Given the description of an element on the screen output the (x, y) to click on. 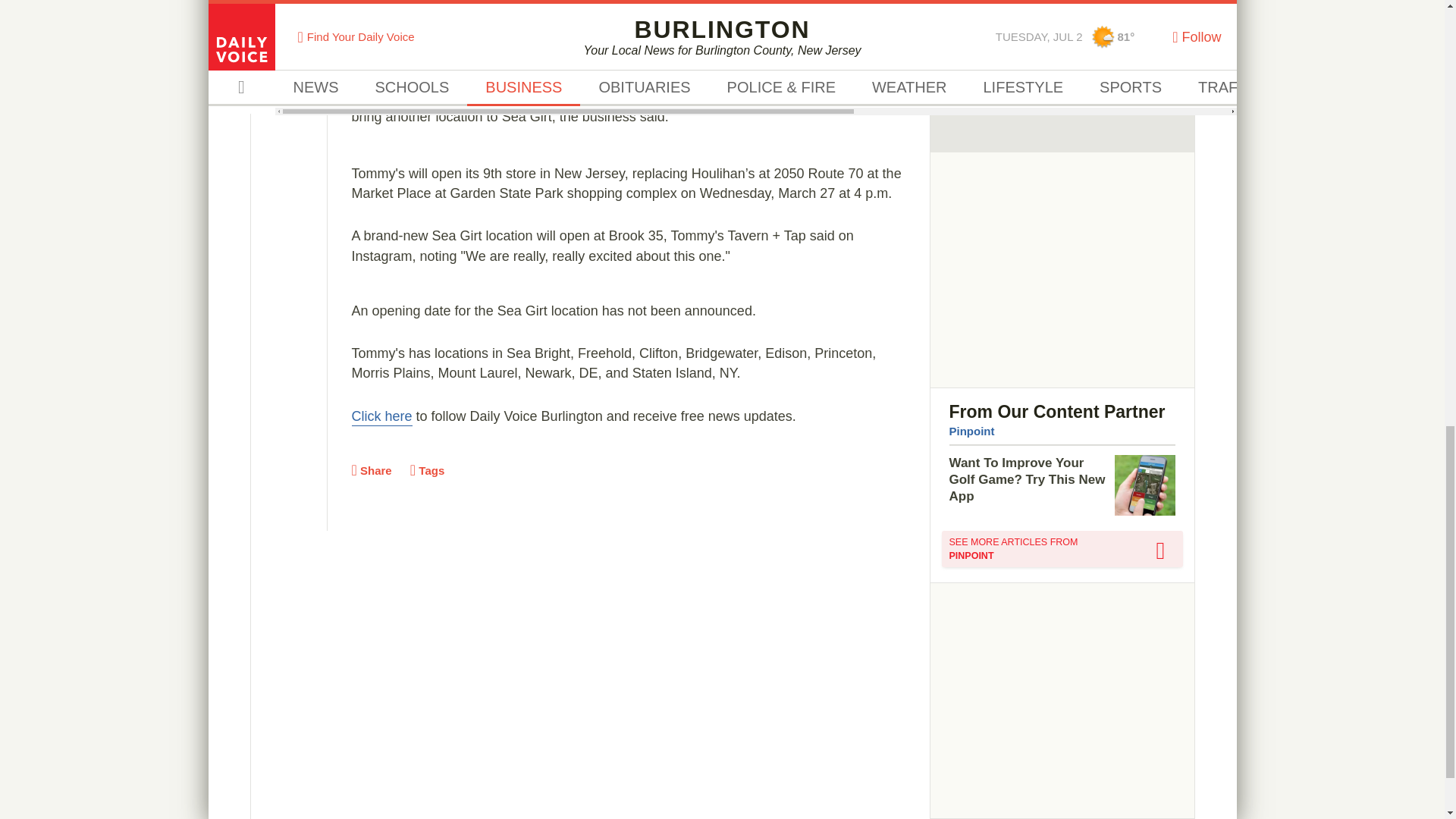
More from Pinpoint (1062, 549)
